Given the description of an element on the screen output the (x, y) to click on. 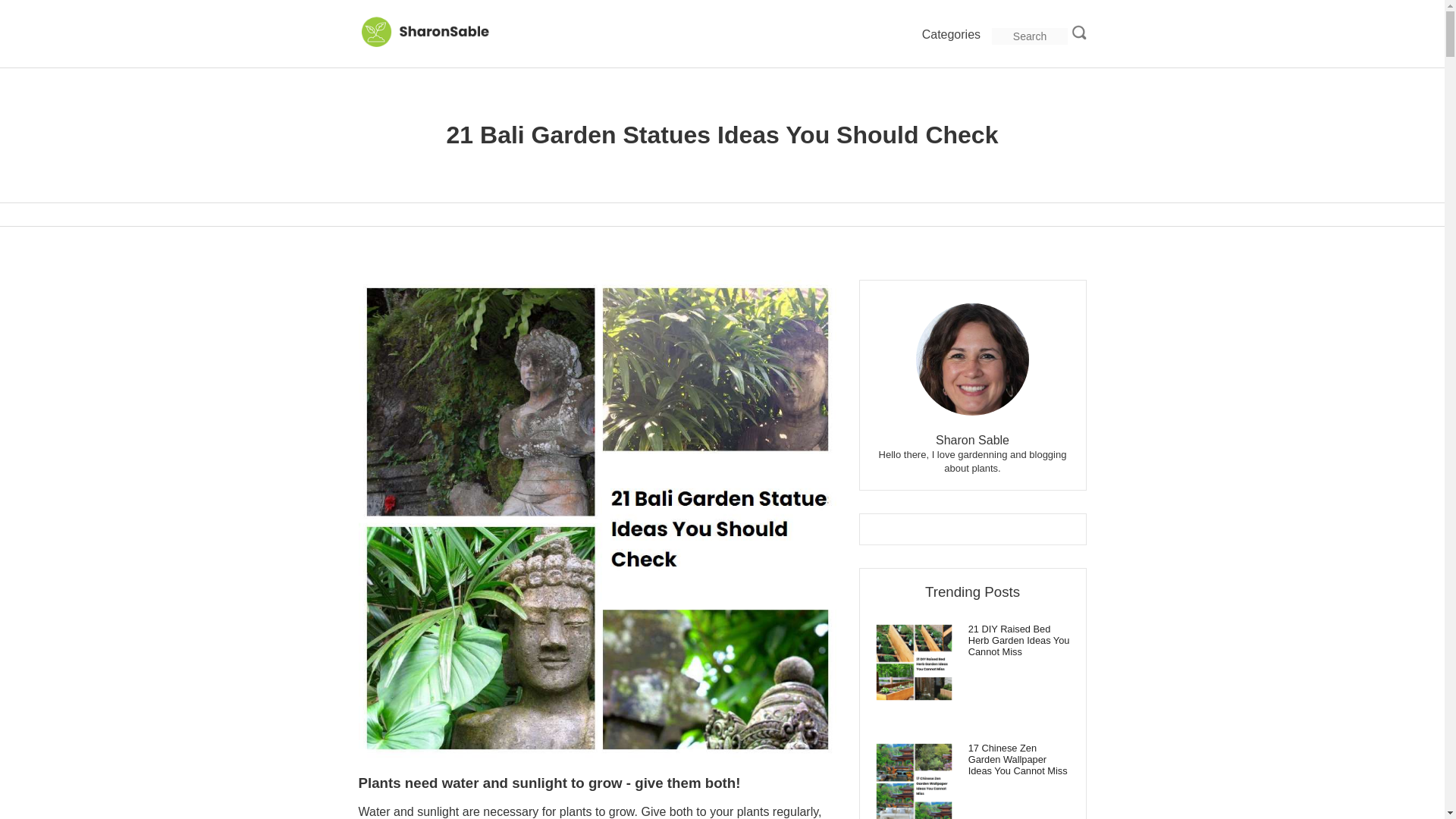
21 DIY Raised Bed Herb Garden Ideas You Cannot Miss (972, 640)
Home Page (433, 44)
Categories (951, 34)
17 Chinese Zen Garden Wallpaper Ideas You Cannot Miss (972, 759)
